Given the description of an element on the screen output the (x, y) to click on. 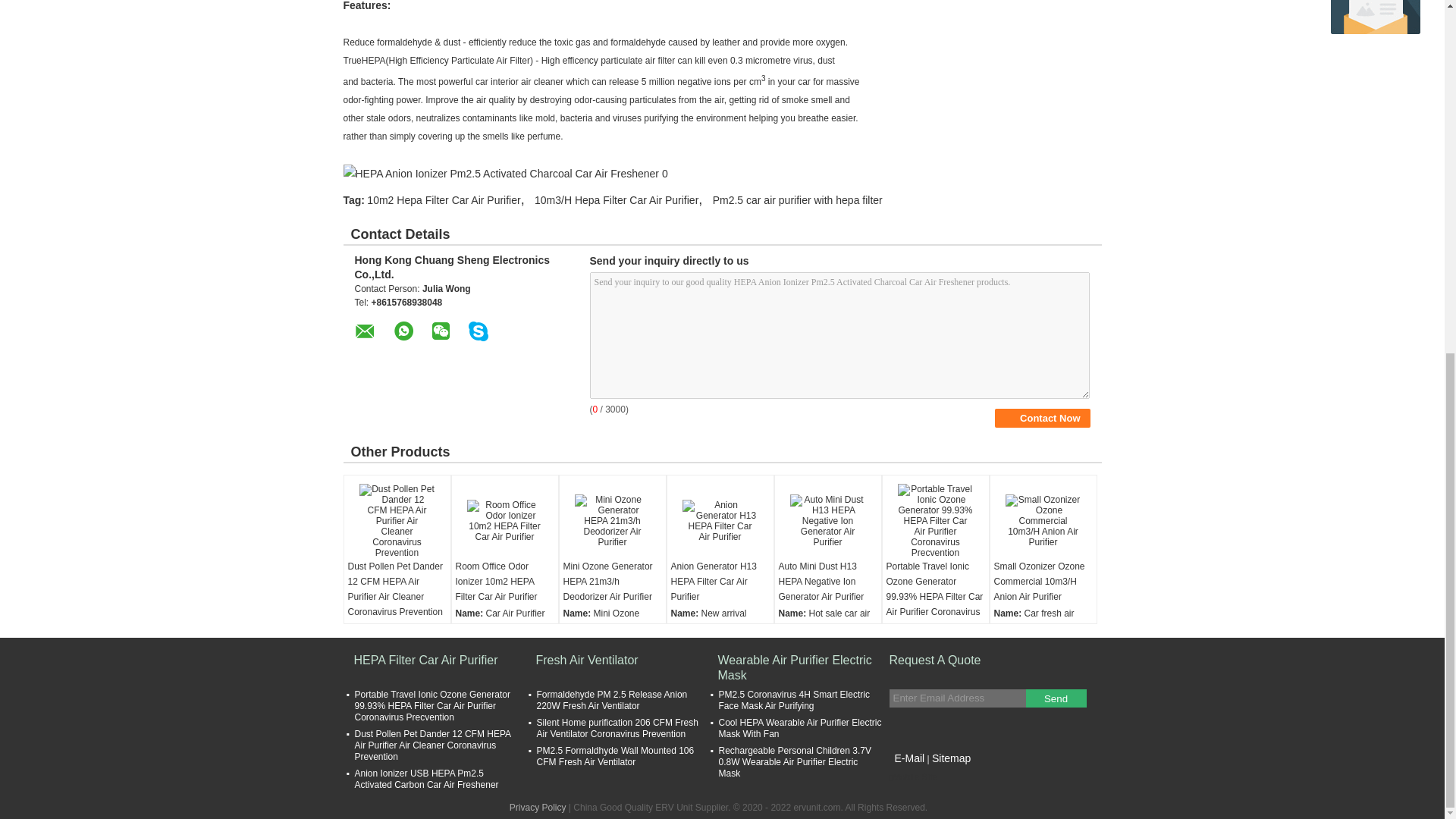
10m2 Hepa Filter Car Air Purifier (442, 200)
Contact Now (1041, 417)
Pm2.5 car air purifier with hepa filter (797, 200)
Contact Now (1041, 417)
